Given the description of an element on the screen output the (x, y) to click on. 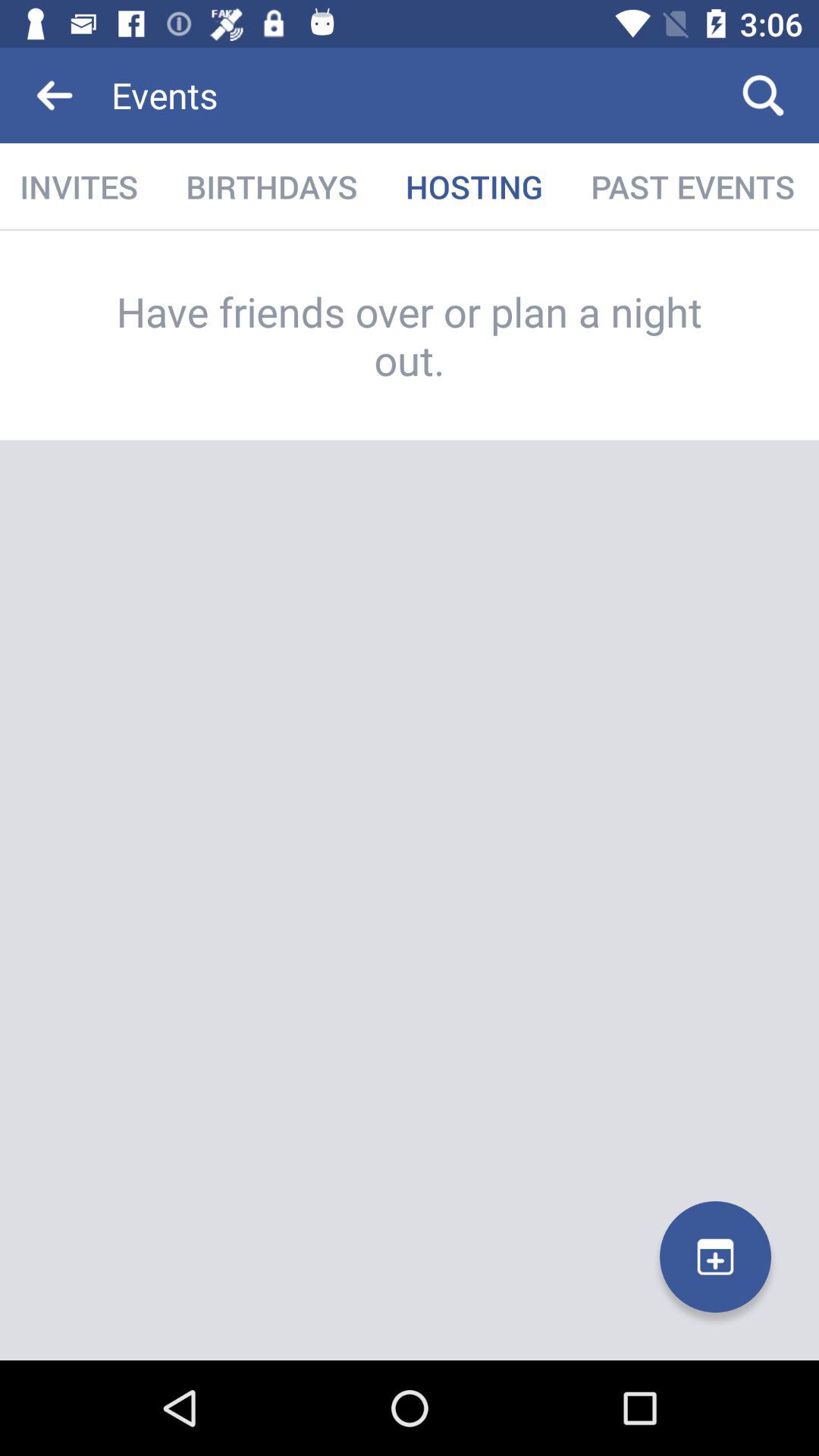
tap the item at the bottom right corner (715, 1256)
